Given the description of an element on the screen output the (x, y) to click on. 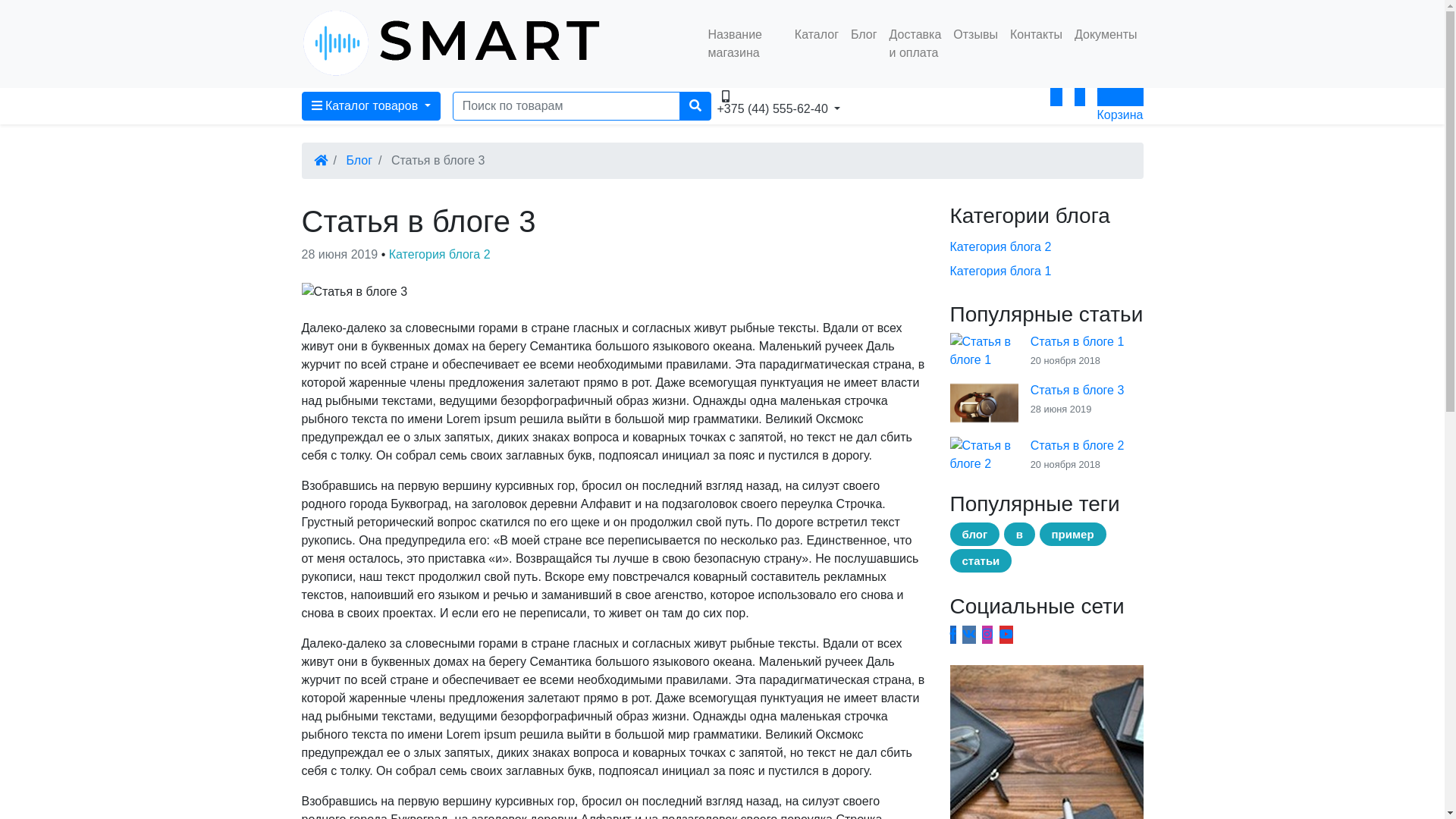
+375 (44) 555-62-40 Element type: text (787, 96)
